Given the description of an element on the screen output the (x, y) to click on. 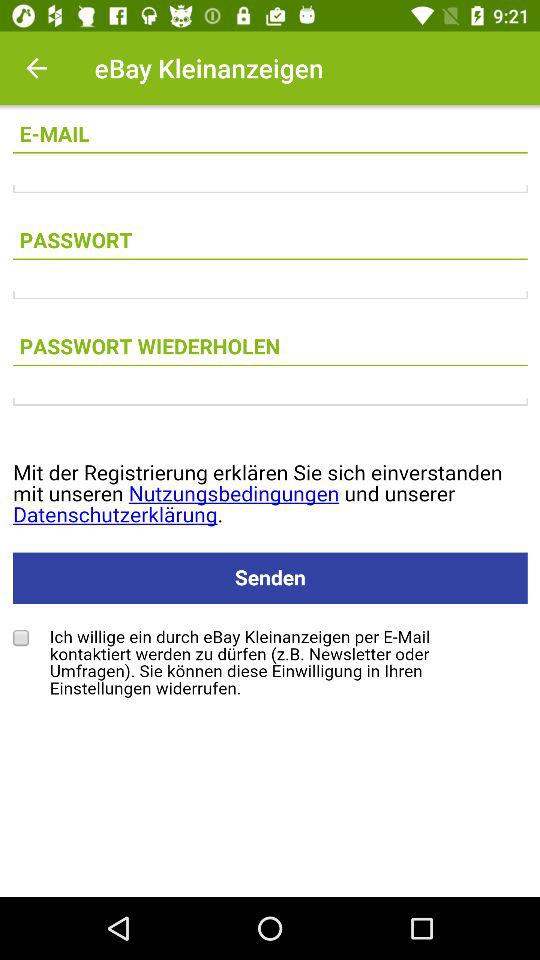
go back (36, 68)
